Given the description of an element on the screen output the (x, y) to click on. 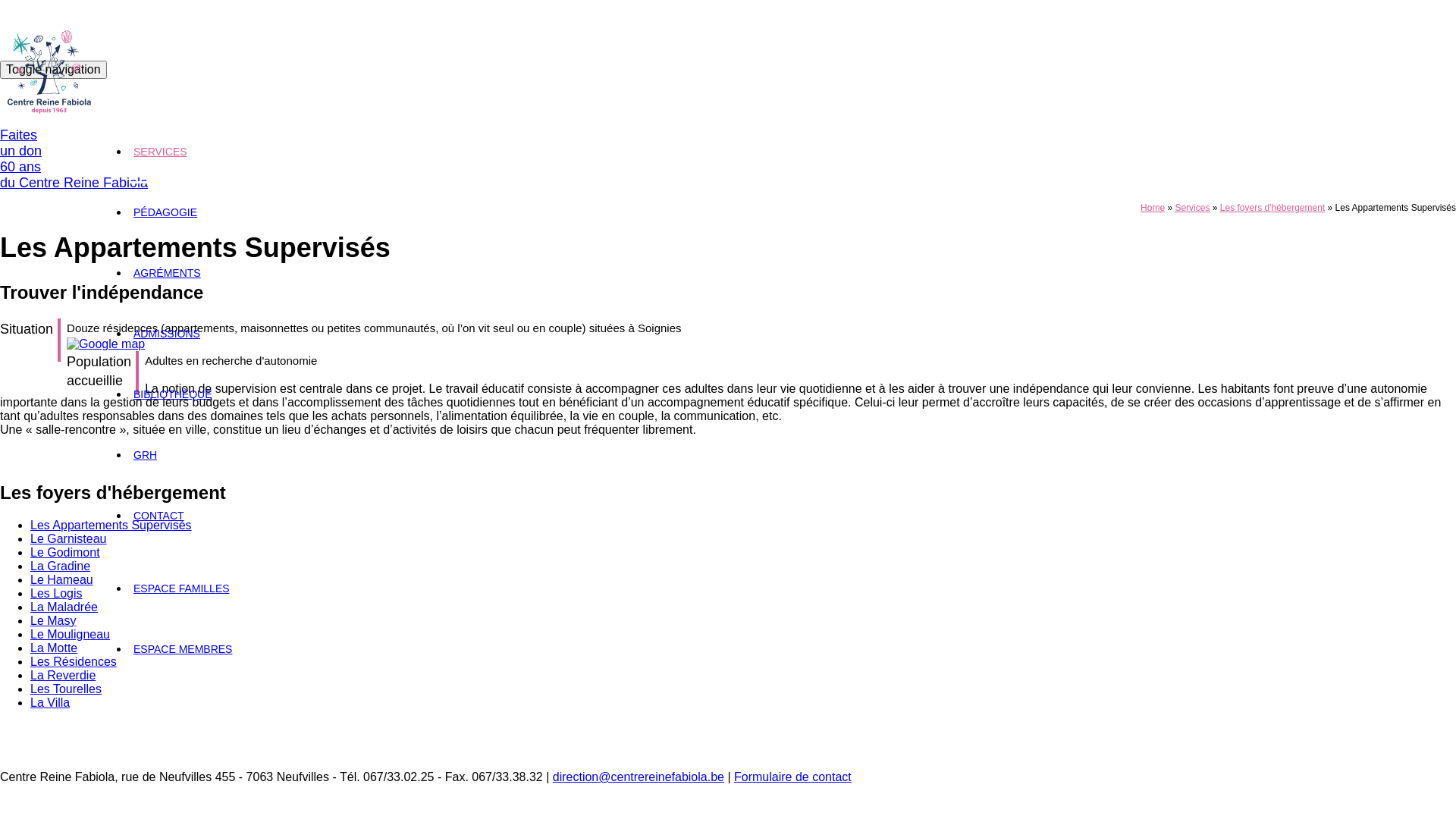
ESPACE FAMILLES Element type: text (181, 588)
La Motte Element type: text (53, 647)
Les Tourelles Element type: text (65, 688)
GRH Element type: text (144, 454)
Le Hameau Element type: text (61, 579)
Aller au contenu principal Element type: text (68, 113)
SERVICES Element type: text (159, 151)
Le Masy Element type: text (52, 620)
Home Element type: text (1152, 207)
Services Element type: text (1191, 207)
ESPACE MEMBRES Element type: text (182, 649)
Formulaire de contact Element type: text (792, 777)
La Gradine Element type: text (60, 565)
La Reverdie Element type: text (62, 674)
Les Logis Element type: text (56, 592)
Le Mouligneau Element type: text (69, 633)
ADMISSIONS Element type: text (166, 333)
Le Godimont Element type: text (65, 552)
La Villa Element type: text (49, 702)
Toggle navigation Element type: text (53, 69)
direction@centrereinefabiola.be Element type: text (638, 777)
Le Garnisteau Element type: text (68, 538)
CONTACT Element type: text (158, 515)
